Given the description of an element on the screen output the (x, y) to click on. 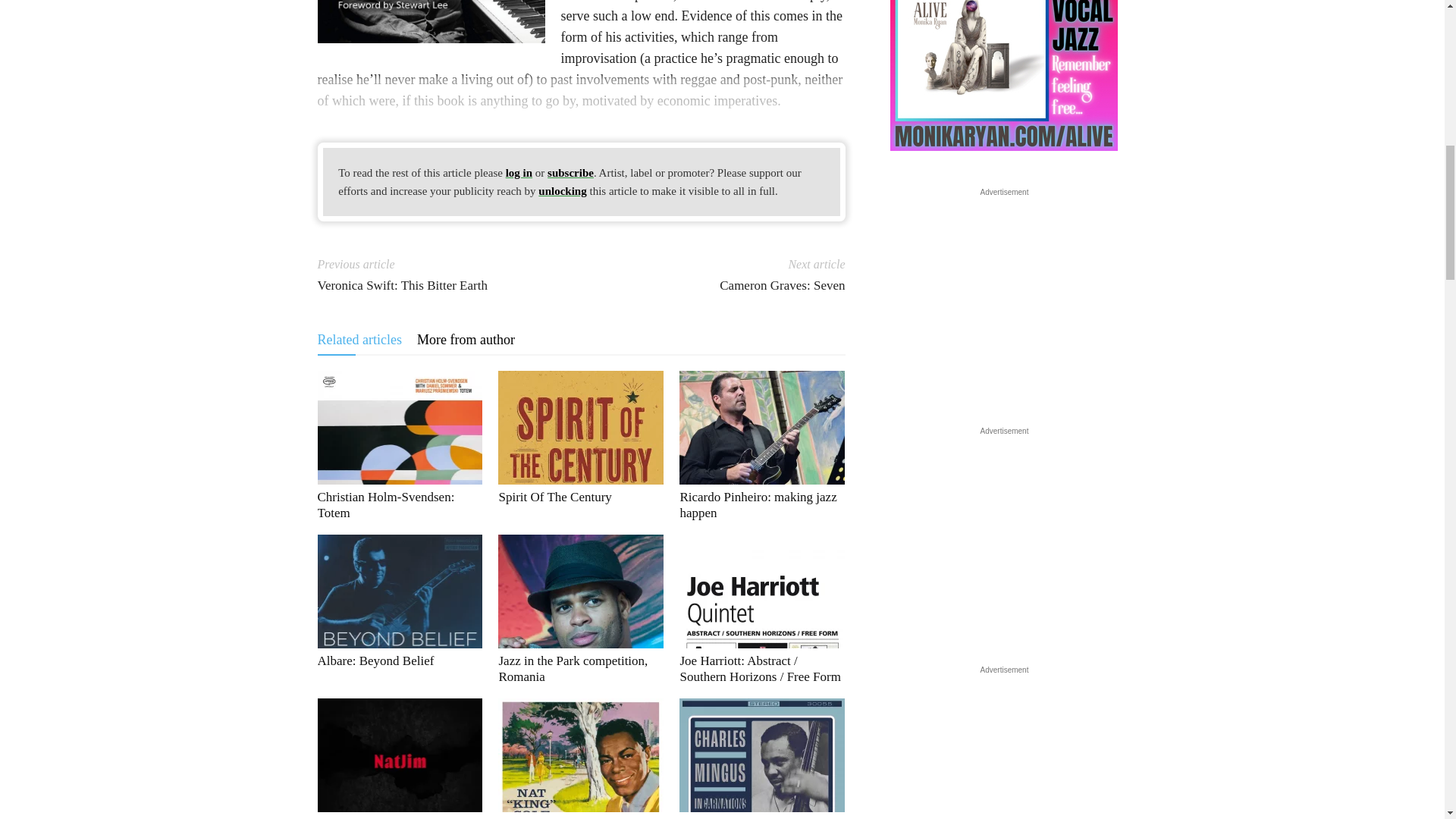
Christian Holm-Svendsen: Totem (399, 427)
